Given the description of an element on the screen output the (x, y) to click on. 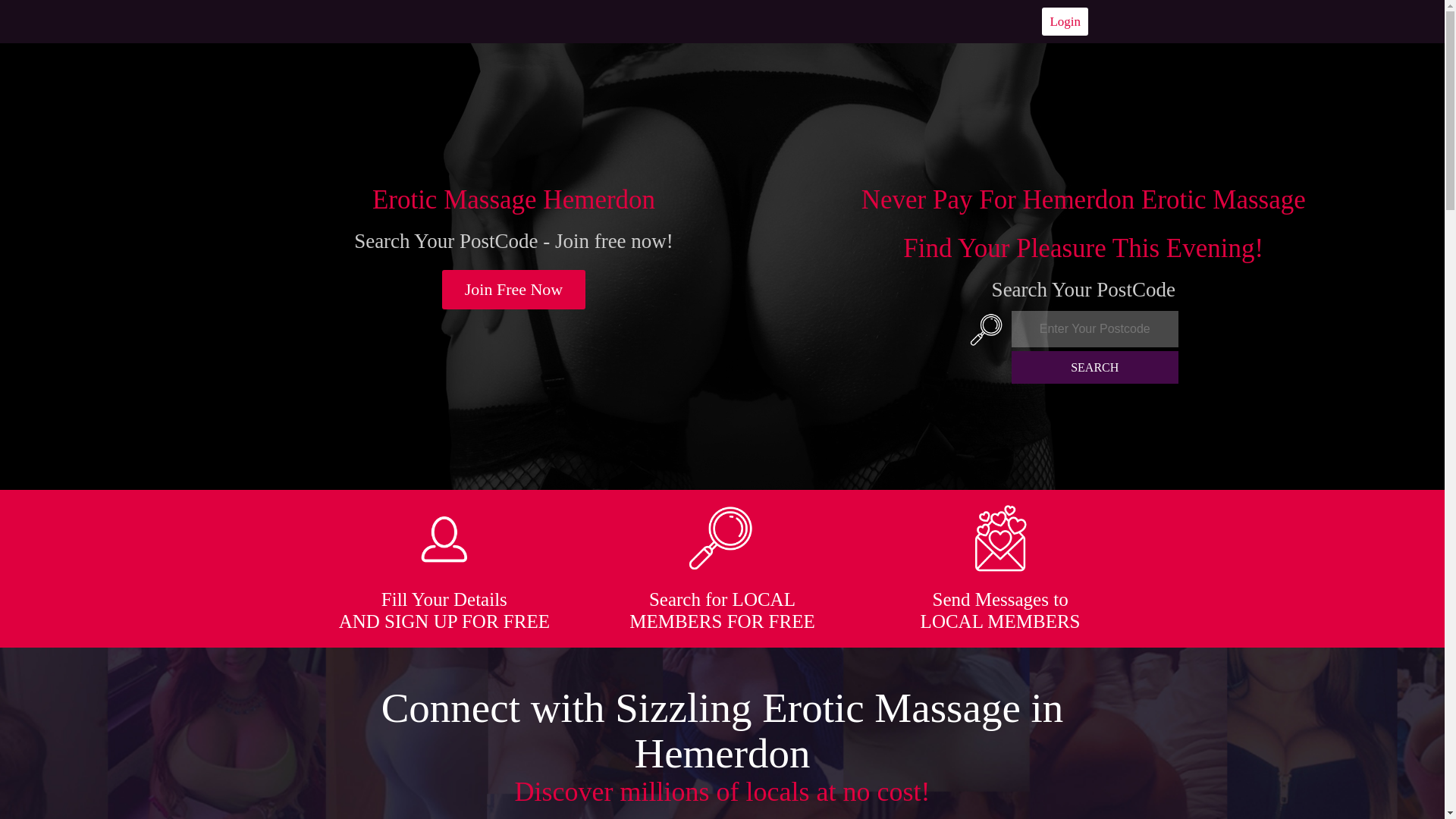
Login (1064, 21)
Login (1064, 21)
Join (514, 289)
SEARCH (1094, 367)
Join Free Now (514, 289)
